Given the description of an element on the screen output the (x, y) to click on. 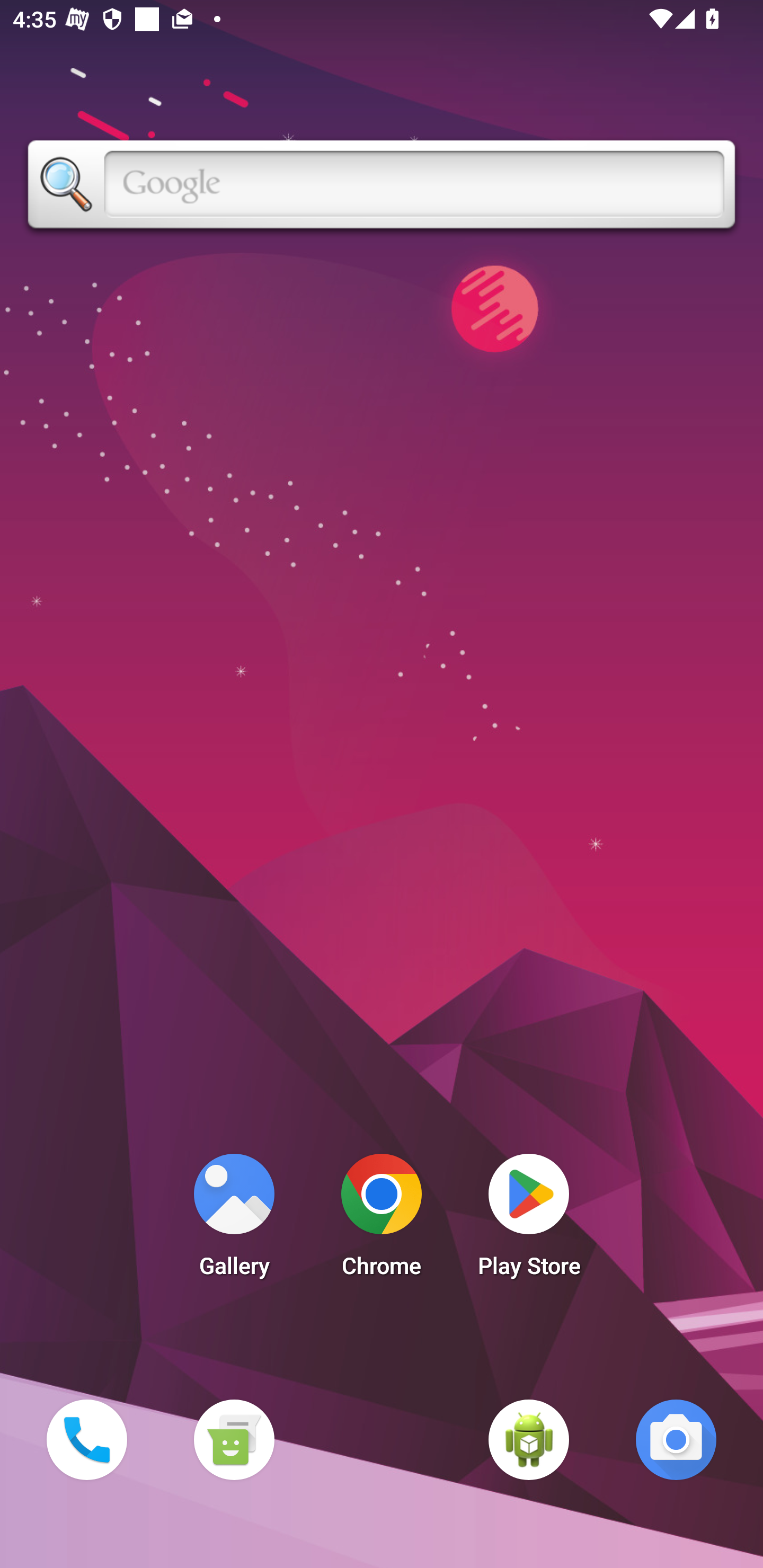
Gallery (233, 1220)
Chrome (381, 1220)
Play Store (528, 1220)
Phone (86, 1439)
Messaging (233, 1439)
WebView Browser Tester (528, 1439)
Camera (676, 1439)
